Given the description of an element on the screen output the (x, y) to click on. 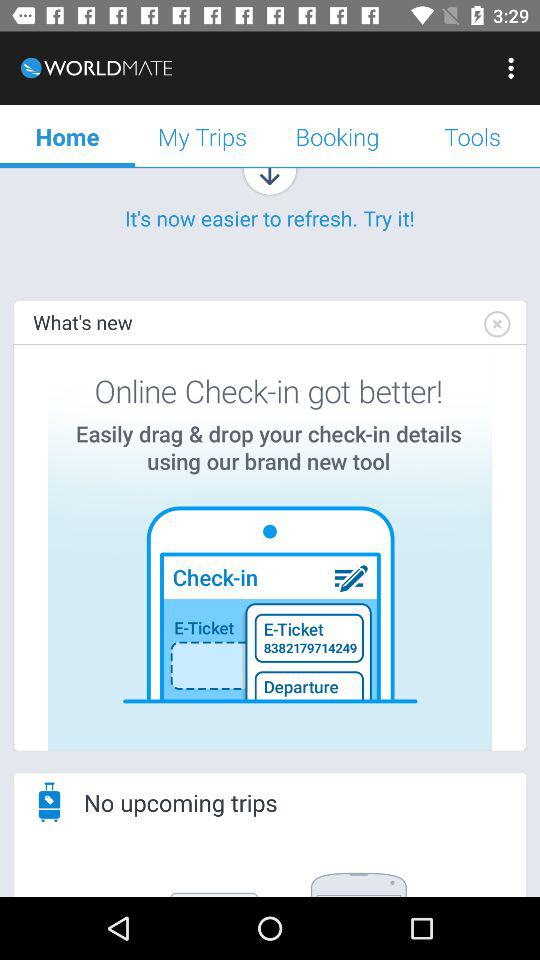
flip to the home app (67, 136)
